Given the description of an element on the screen output the (x, y) to click on. 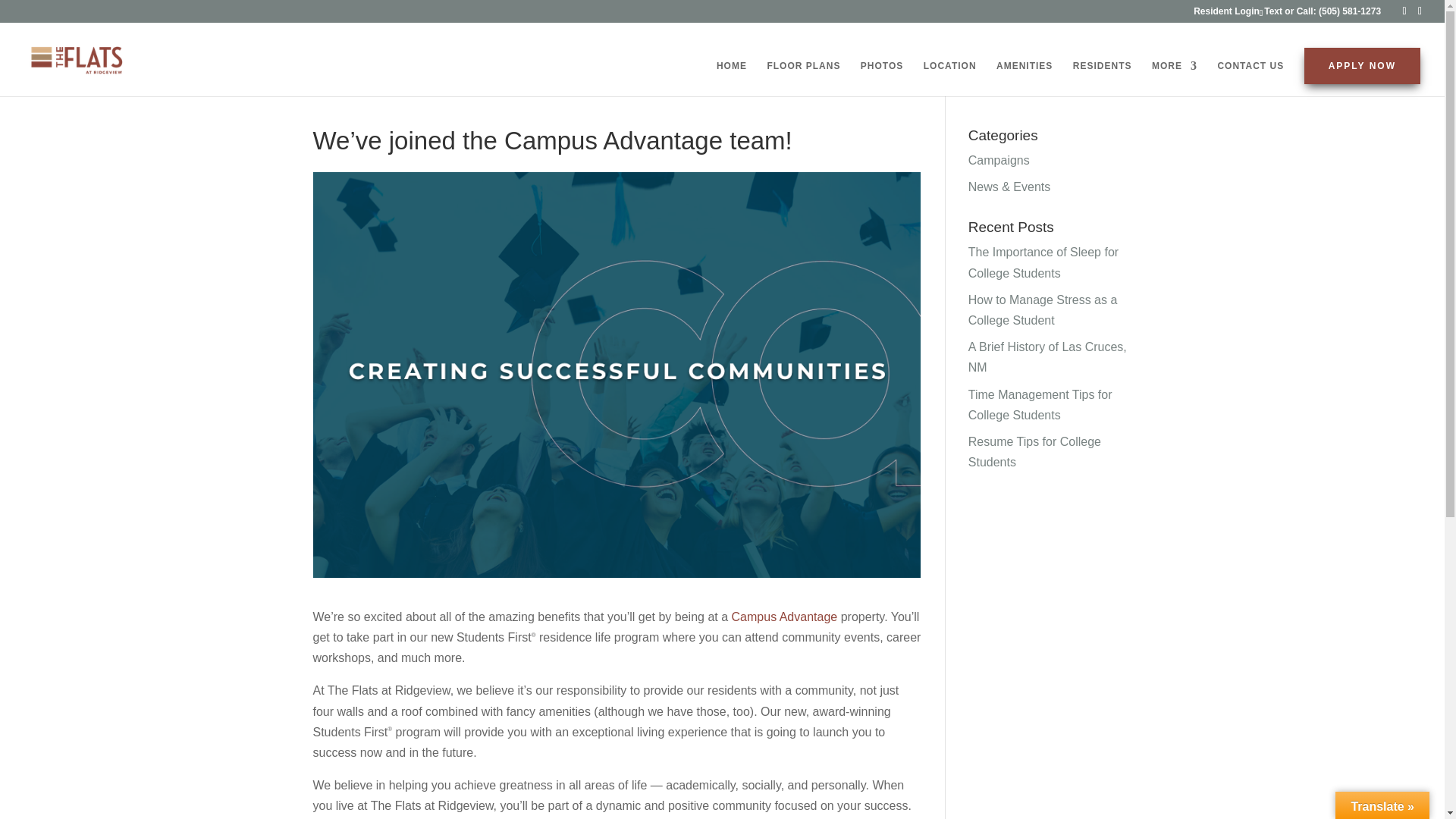
LOCATION (949, 78)
Campaigns (998, 160)
Campus Advantage (785, 616)
FLOOR PLANS (803, 78)
AMENITIES (1023, 78)
RESIDENTS (1102, 78)
The Importance of Sleep for College Students (1043, 262)
Resident Login (1226, 14)
PHOTOS (881, 78)
Resume Tips for College Students (1034, 451)
MORE (1173, 78)
CONTACT US (1250, 78)
A Brief History of Las Cruces, NM (1047, 356)
Time Management Tips for College Students (1040, 404)
How to Manage Stress as a College Student (1043, 309)
